Given the description of an element on the screen output the (x, y) to click on. 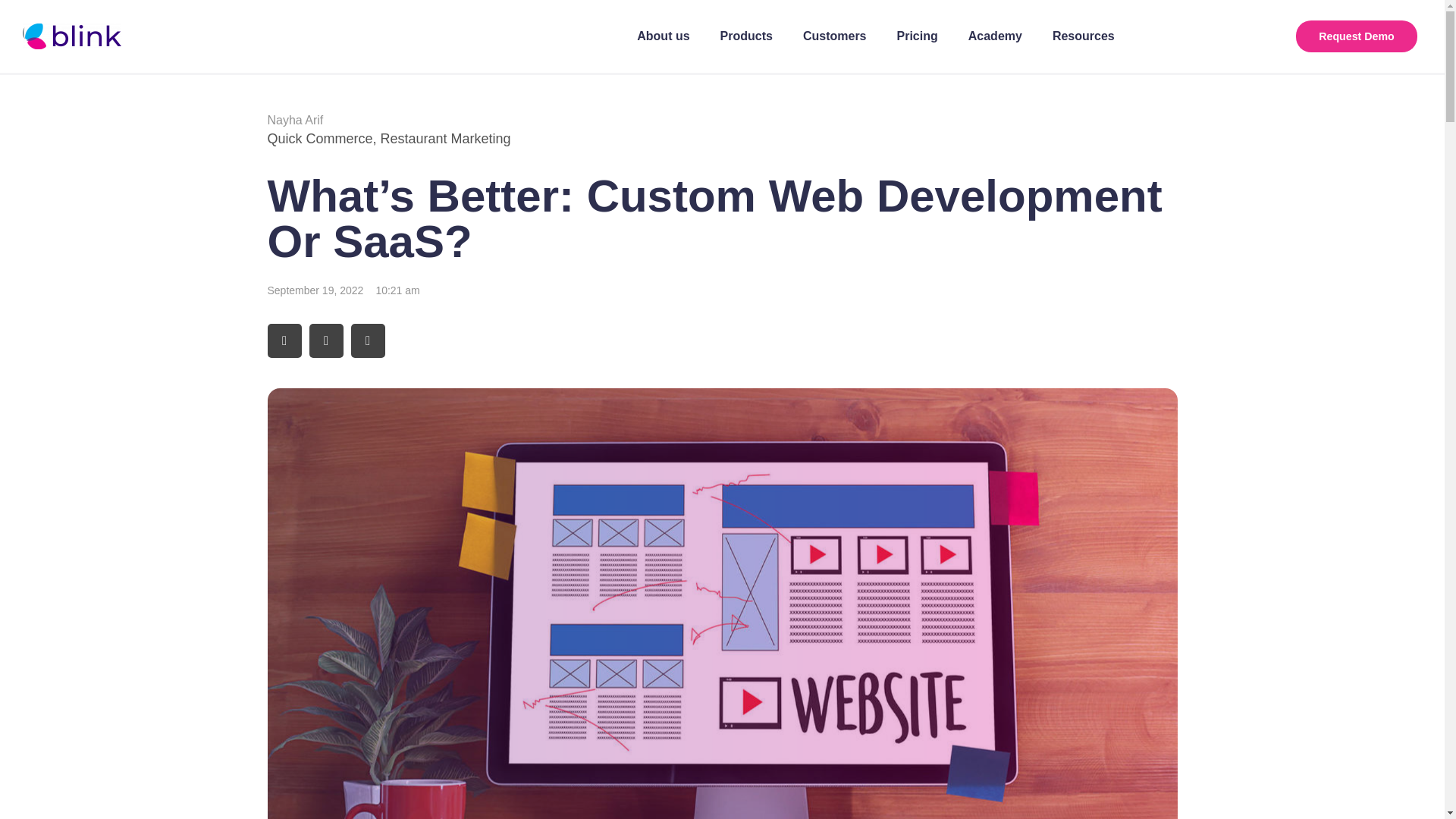
Customers (834, 36)
Products (745, 36)
About us (662, 36)
Nayha Arif (294, 120)
Academy (994, 36)
Pricing (917, 36)
Quick Commerce (319, 138)
Resources (1082, 36)
Request Demo (1355, 36)
logo-blink-purple-text (71, 36)
